Given the description of an element on the screen output the (x, y) to click on. 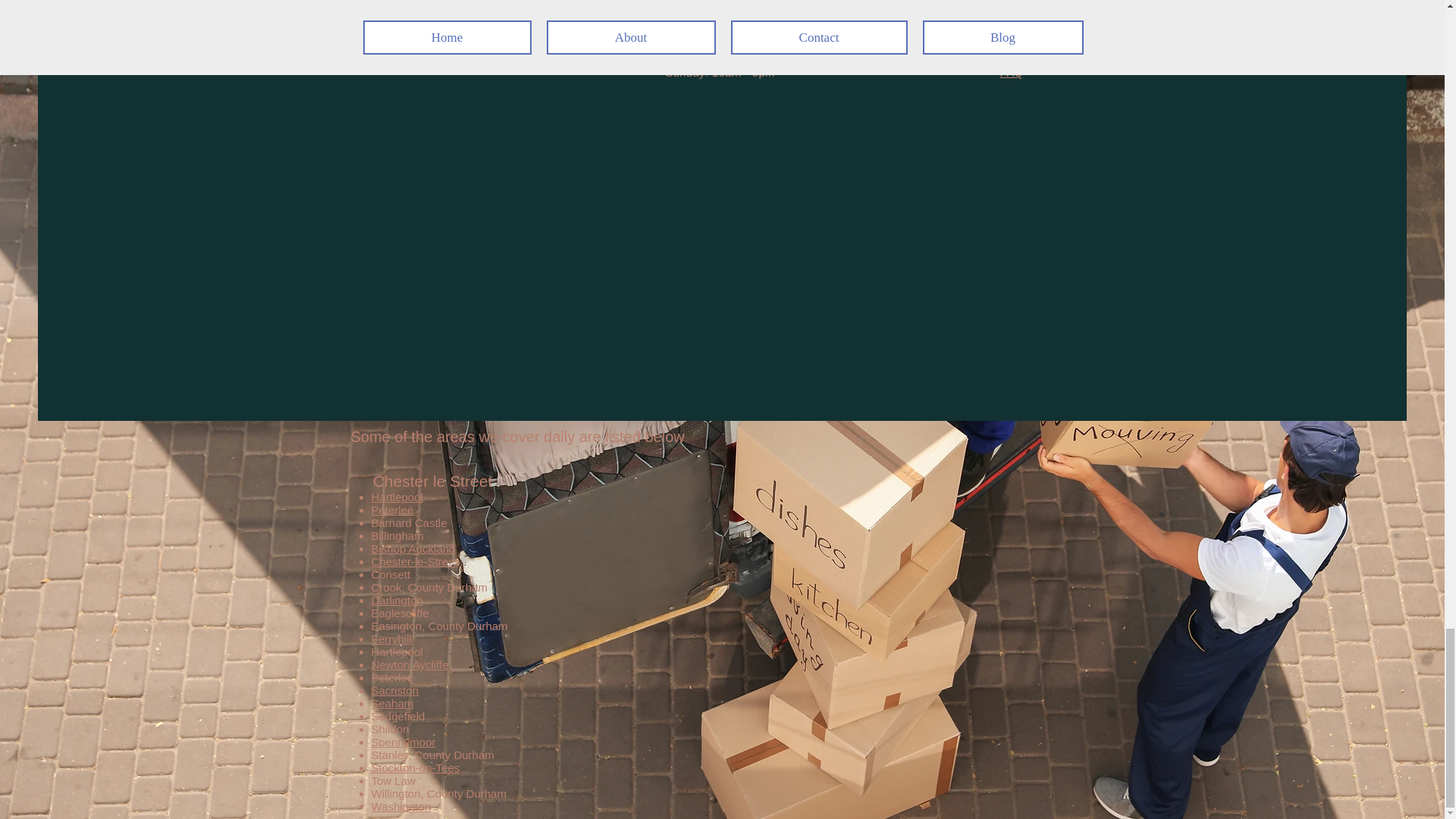
Sacriston (395, 689)
FAQ (1011, 35)
07879 552 550 (468, 58)
Stockton-on-Tees (415, 767)
Ferryhill (391, 638)
FAQ (1011, 72)
Newton Aycliffe (409, 664)
Chester-le-Street (414, 561)
Peterlee (392, 509)
Darlington (397, 599)
Hartlepool (397, 496)
Privacy Policy (1010, 53)
Bishop Auckland (413, 548)
Seaham (392, 703)
